Given the description of an element on the screen output the (x, y) to click on. 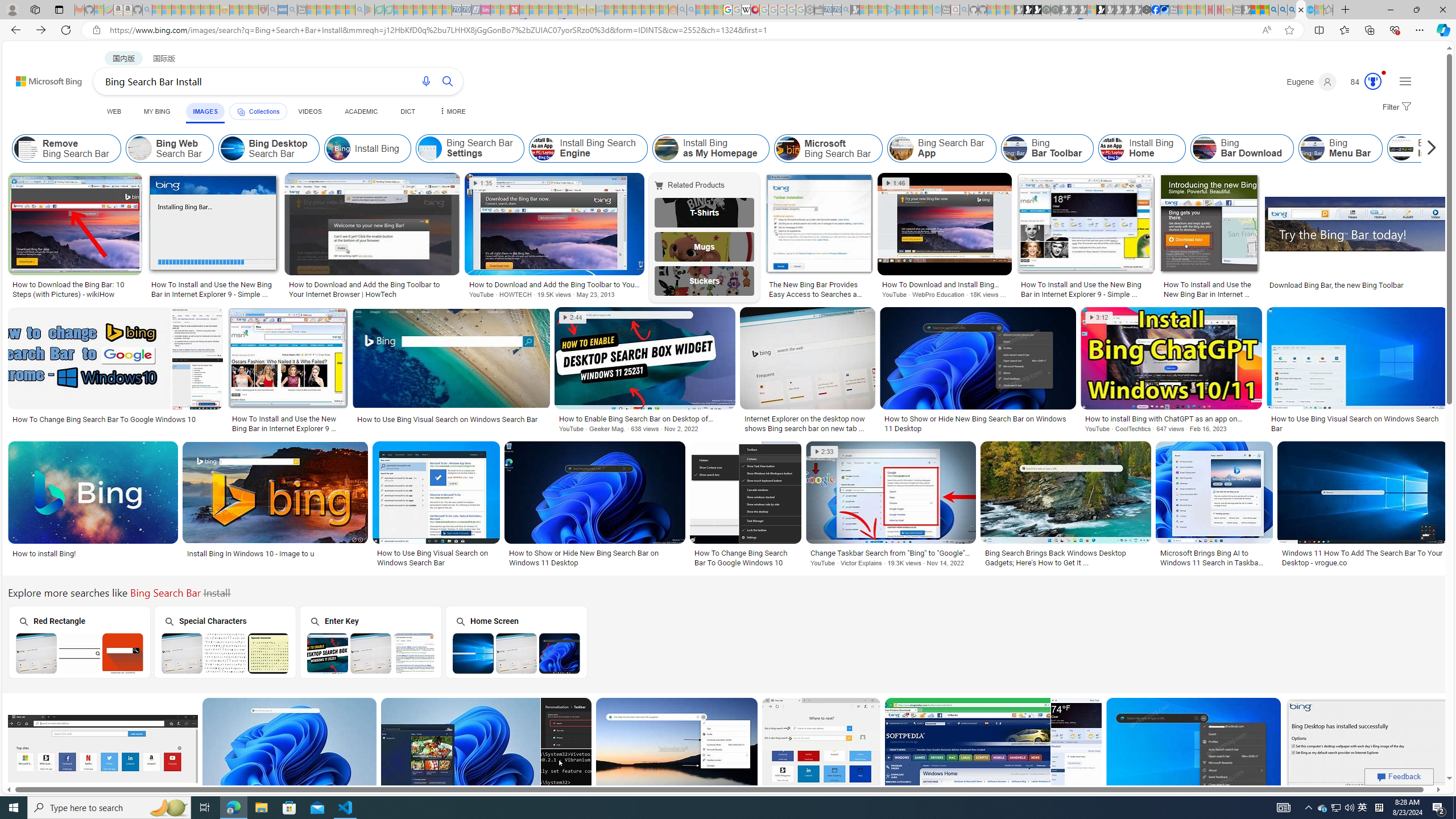
MY BING (156, 111)
1:35 (482, 183)
Bing Menu Bar (1312, 148)
